Given the description of an element on the screen output the (x, y) to click on. 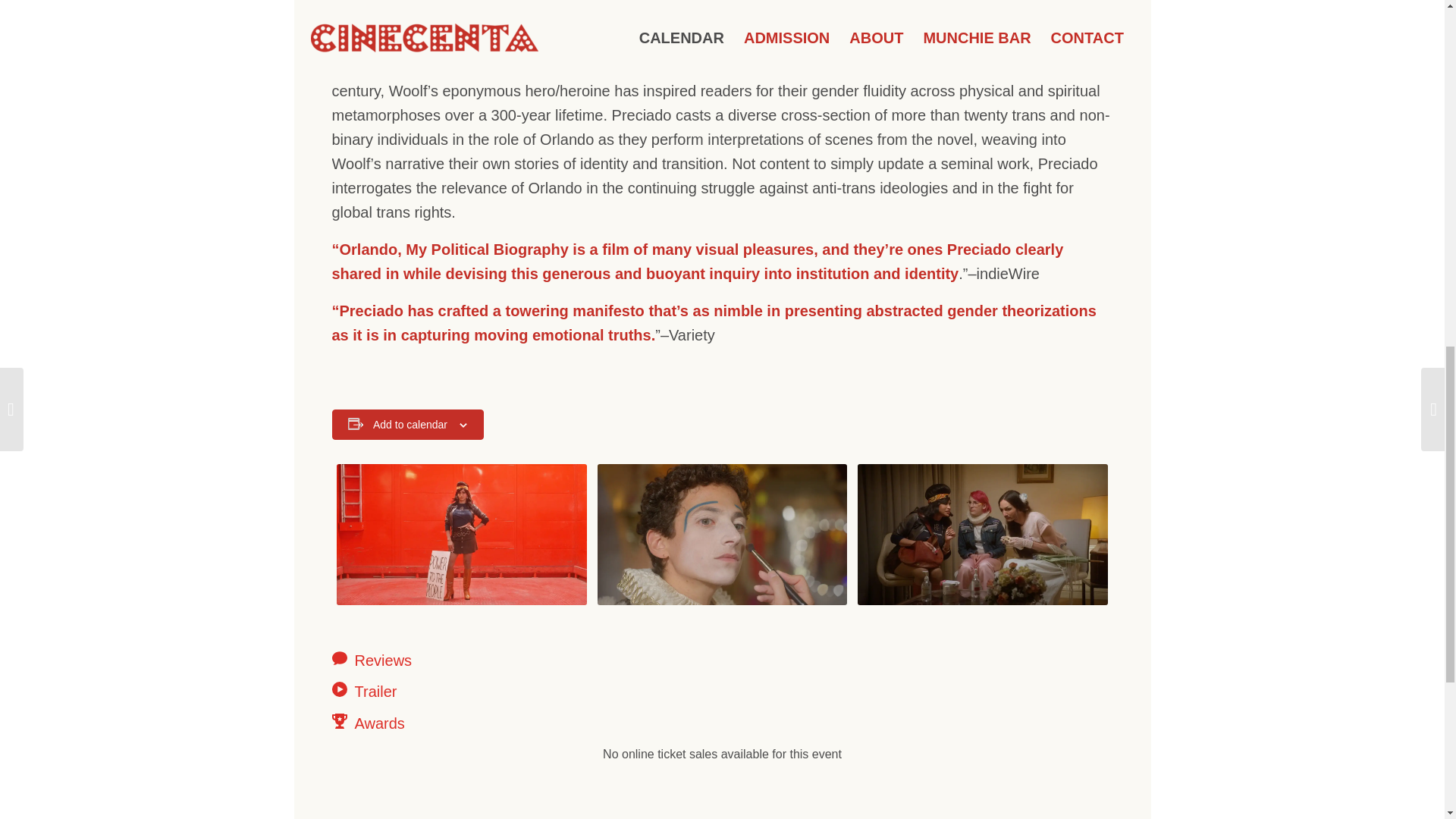
Orlando, My Political Biography, 2023 (721, 534)
Add to calendar (409, 424)
Orlando, My Political Biography, 2023 (461, 534)
Awards (448, 723)
Reviews (448, 660)
Trailer (448, 691)
